Given the description of an element on the screen output the (x, y) to click on. 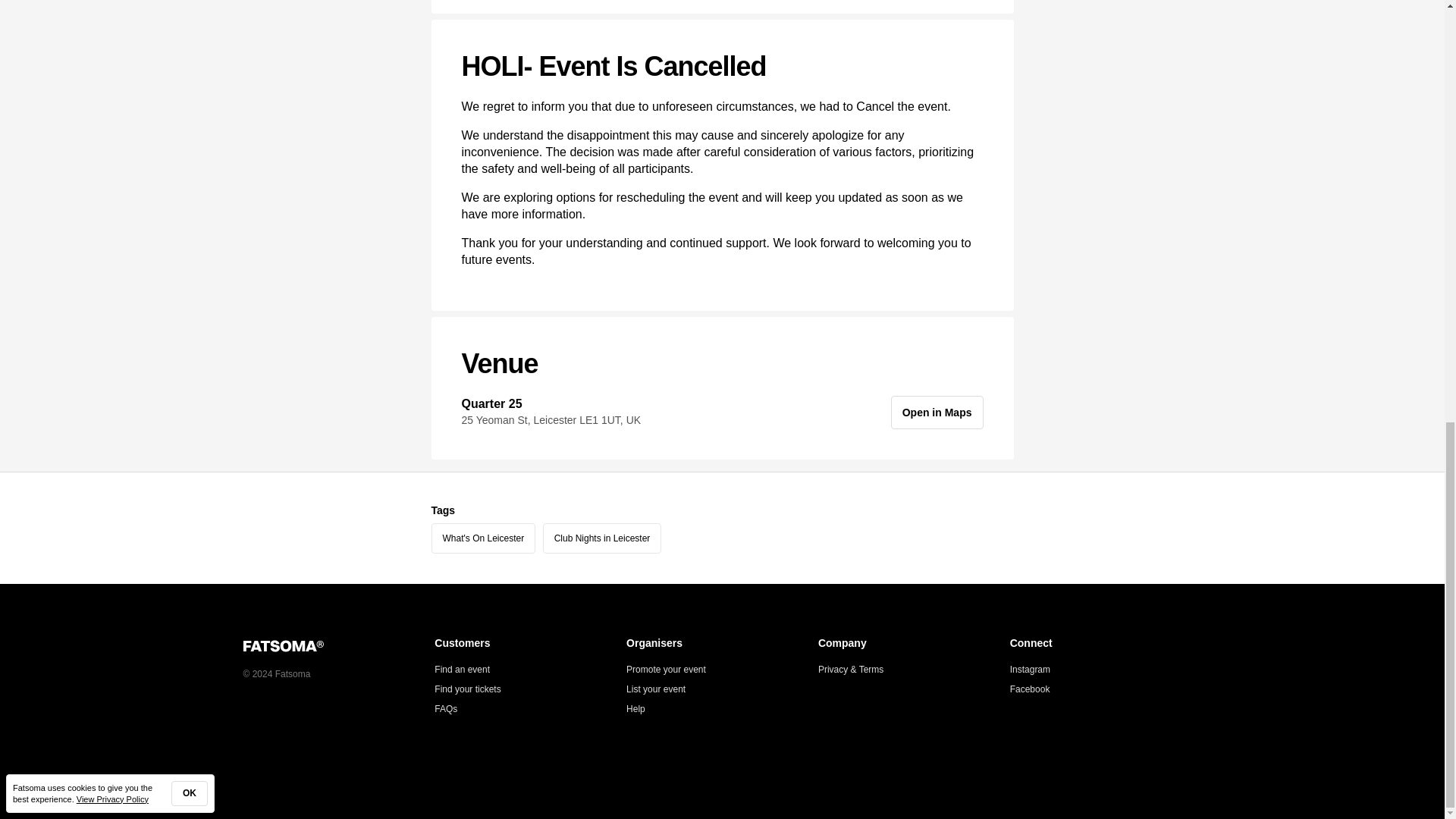
What's On Leicester (482, 538)
Fatsoma (338, 645)
Open in Maps (937, 412)
List your event (655, 688)
Help (635, 708)
Promote your event (666, 669)
Fatsoma (283, 645)
Find an event (461, 669)
Club Nights in Leicester (602, 538)
Find your tickets (466, 688)
FAQs (445, 708)
